Given the description of an element on the screen output the (x, y) to click on. 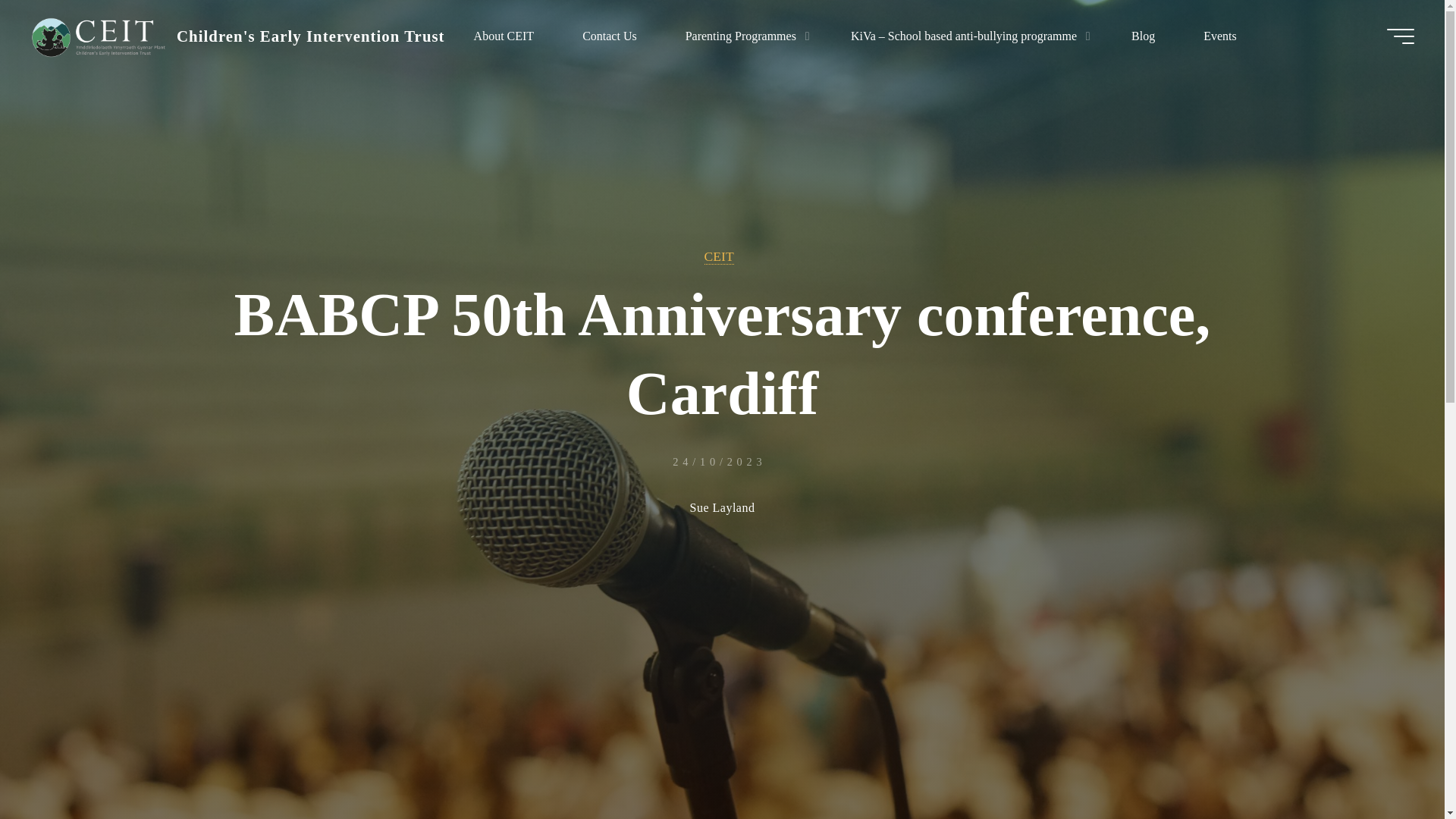
About CEIT (504, 35)
CEIT (718, 256)
Children's Early Intervention Trust (310, 36)
Read more (721, 724)
View all posts by Sue Layland (722, 509)
Contact Us (609, 35)
Sue Layland (722, 509)
Parenting Programmes (744, 35)
Children's Early Intervention Trust (97, 35)
Events (1219, 35)
Blog (1142, 35)
